Given the description of an element on the screen output the (x, y) to click on. 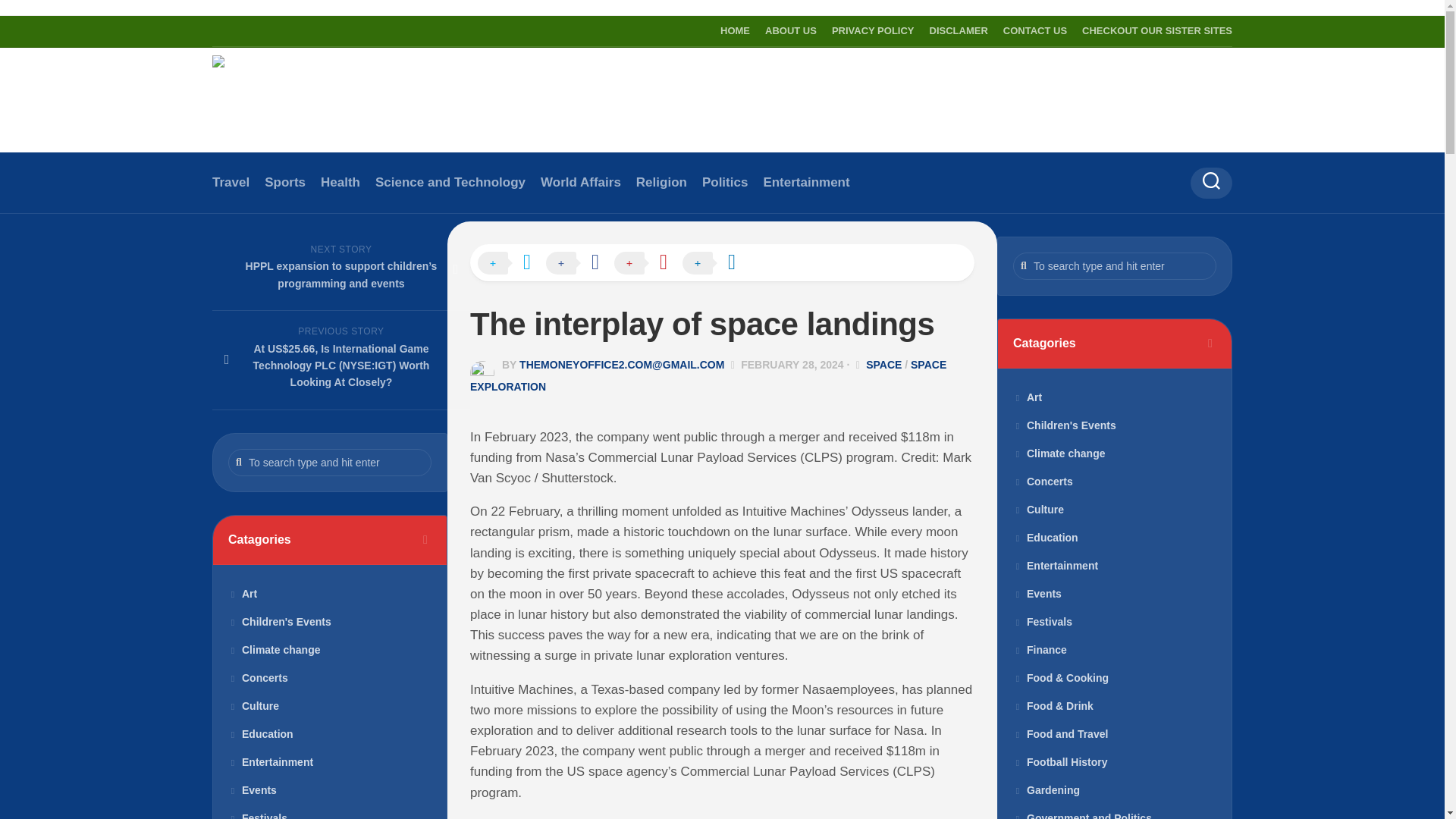
Share on X (511, 263)
Religion (661, 182)
Science and Technology (450, 182)
PRIVACY POLICY (872, 30)
To search type and hit enter (329, 461)
Travel (230, 182)
Share on Pinterest (648, 263)
To search type and hit enter (329, 461)
ABOUT US (790, 30)
Health (339, 182)
To search type and hit enter (1114, 266)
HOME (734, 30)
CHECKOUT OUR SISTER SITES (1156, 30)
Sports (284, 182)
DISCLAMER (959, 30)
